Given the description of an element on the screen output the (x, y) to click on. 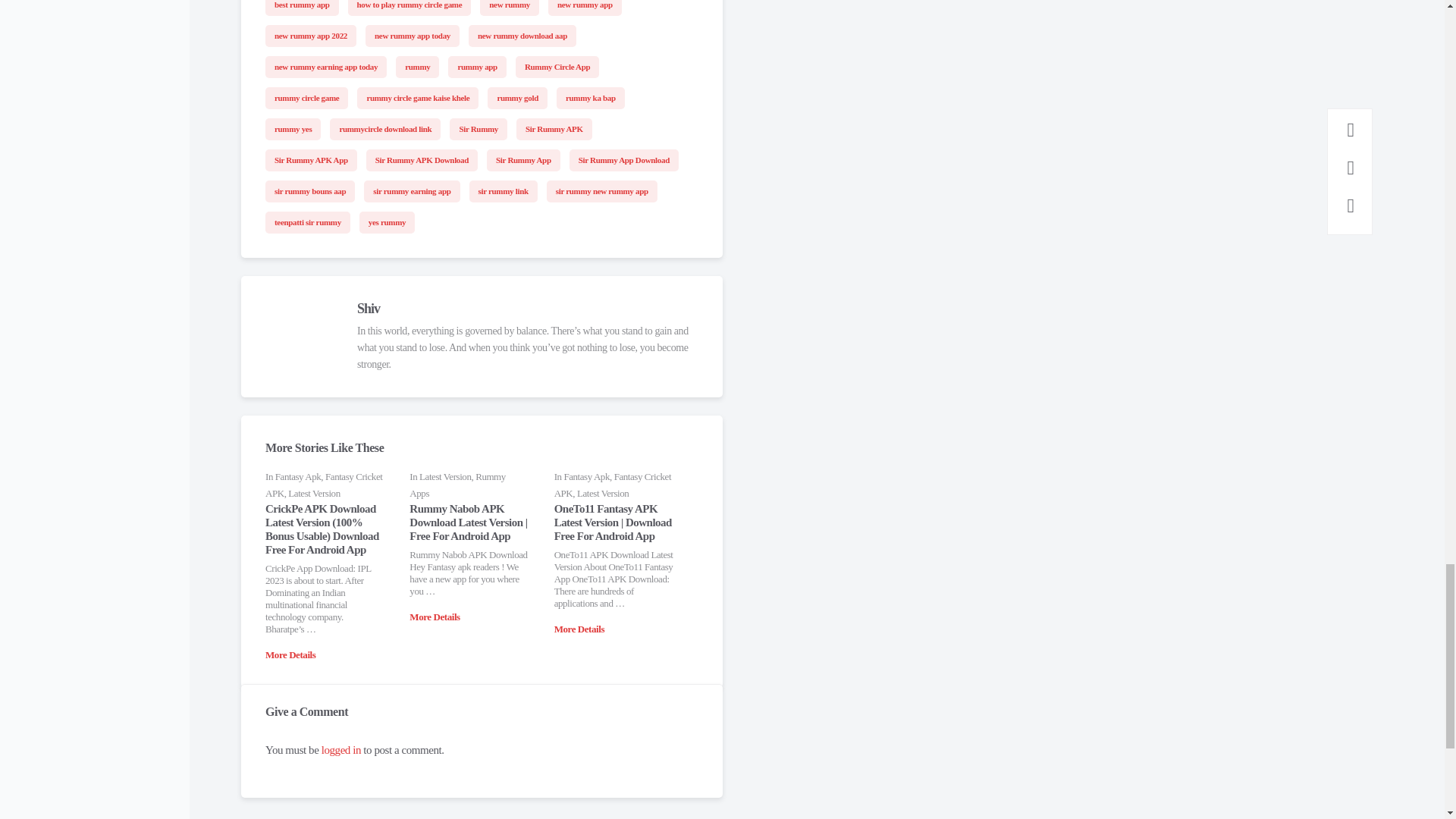
View all posts in Fantasy Apk (298, 476)
View all posts in Fantasy Cricket APK (322, 484)
View all posts in Latest Version (313, 492)
